Given the description of an element on the screen output the (x, y) to click on. 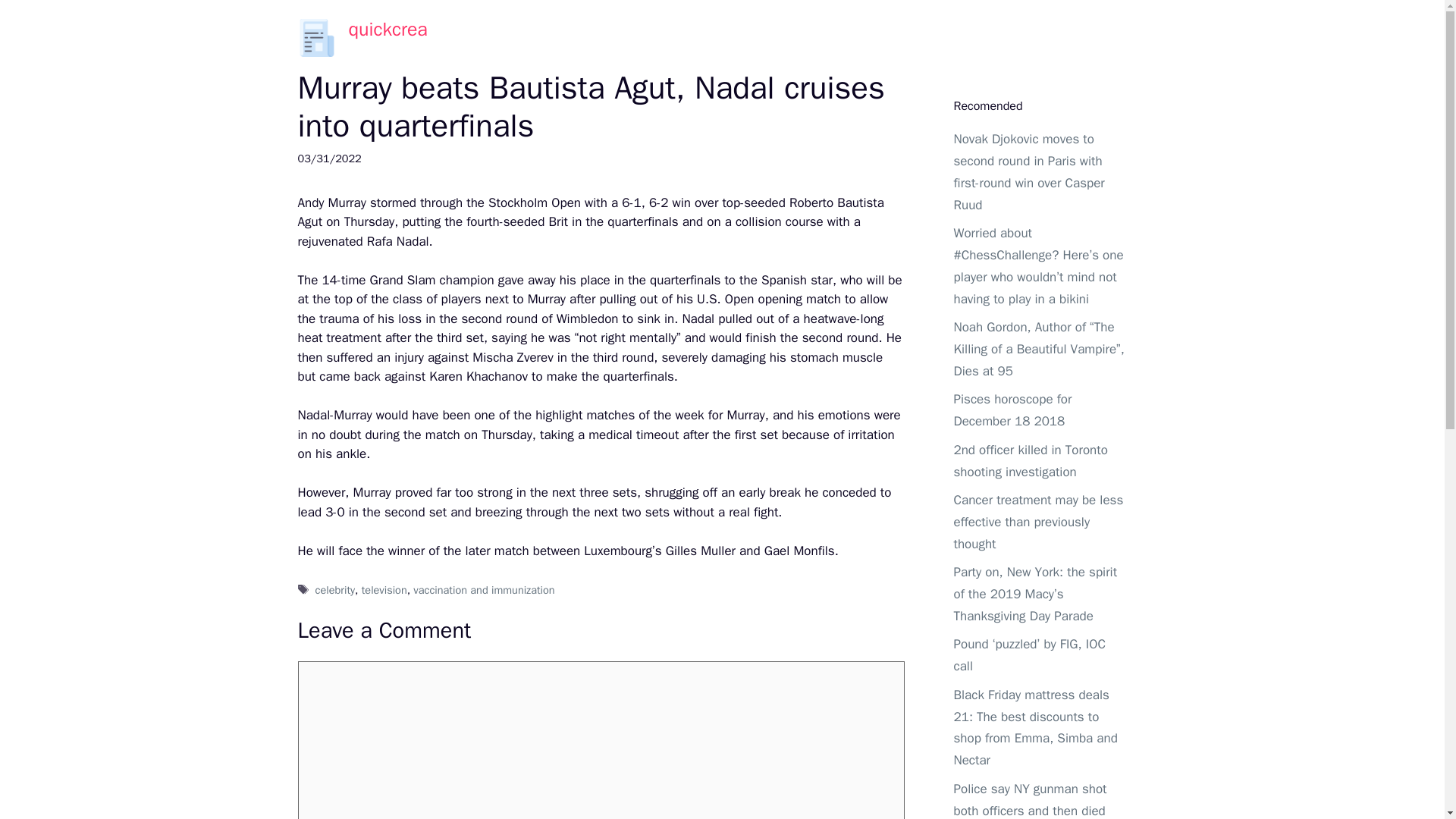
Home (748, 37)
Pisces horoscope for December 18 2018 (1012, 410)
technology (889, 37)
quickcrea (388, 28)
television (384, 590)
national (813, 37)
More (1067, 37)
world (959, 37)
celebrity (335, 590)
2nd officer killed in Toronto shooting investigation (1030, 460)
vaccination and immunization (483, 590)
